Given the description of an element on the screen output the (x, y) to click on. 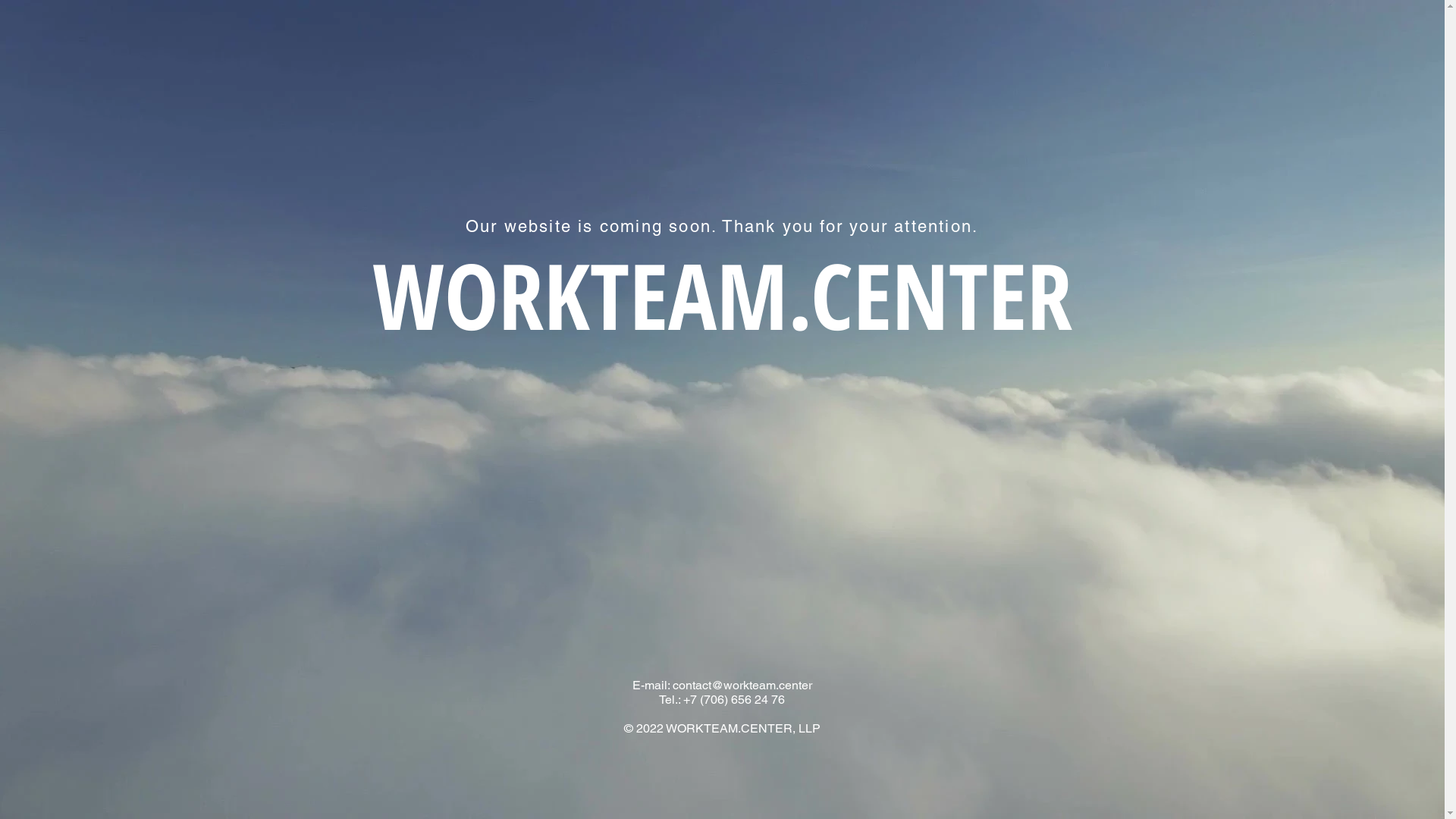
contact@workteam.center Element type: text (741, 684)
